Given the description of an element on the screen output the (x, y) to click on. 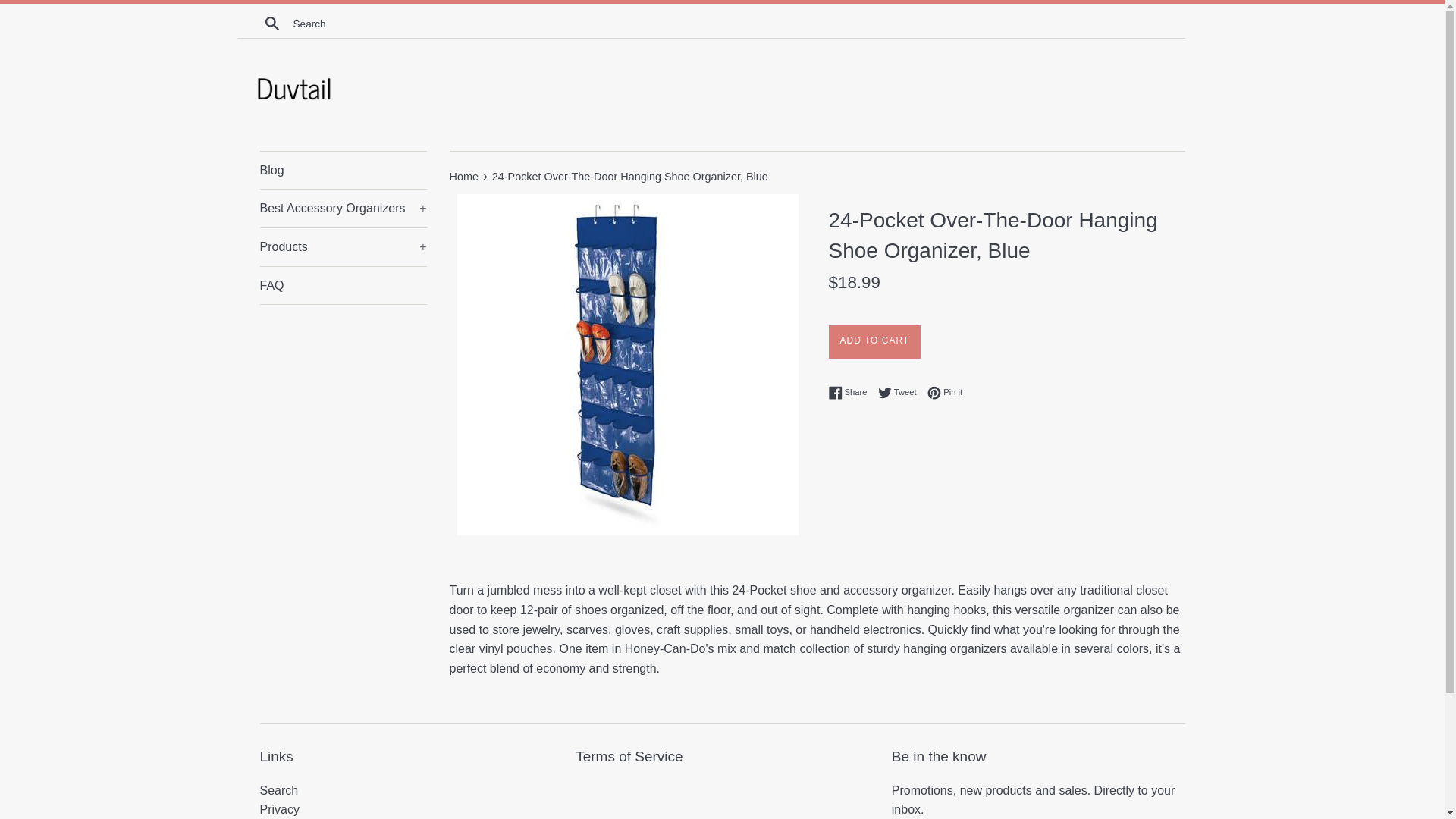
Privacy (278, 809)
Search (271, 22)
Share on Facebook (851, 392)
Home (464, 176)
Pin on Pinterest (944, 392)
Back to the frontpage (464, 176)
Tweet on Twitter (900, 392)
Blog (342, 170)
ADD TO CART (900, 392)
FAQ (944, 392)
Search (874, 341)
